Given the description of an element on the screen output the (x, y) to click on. 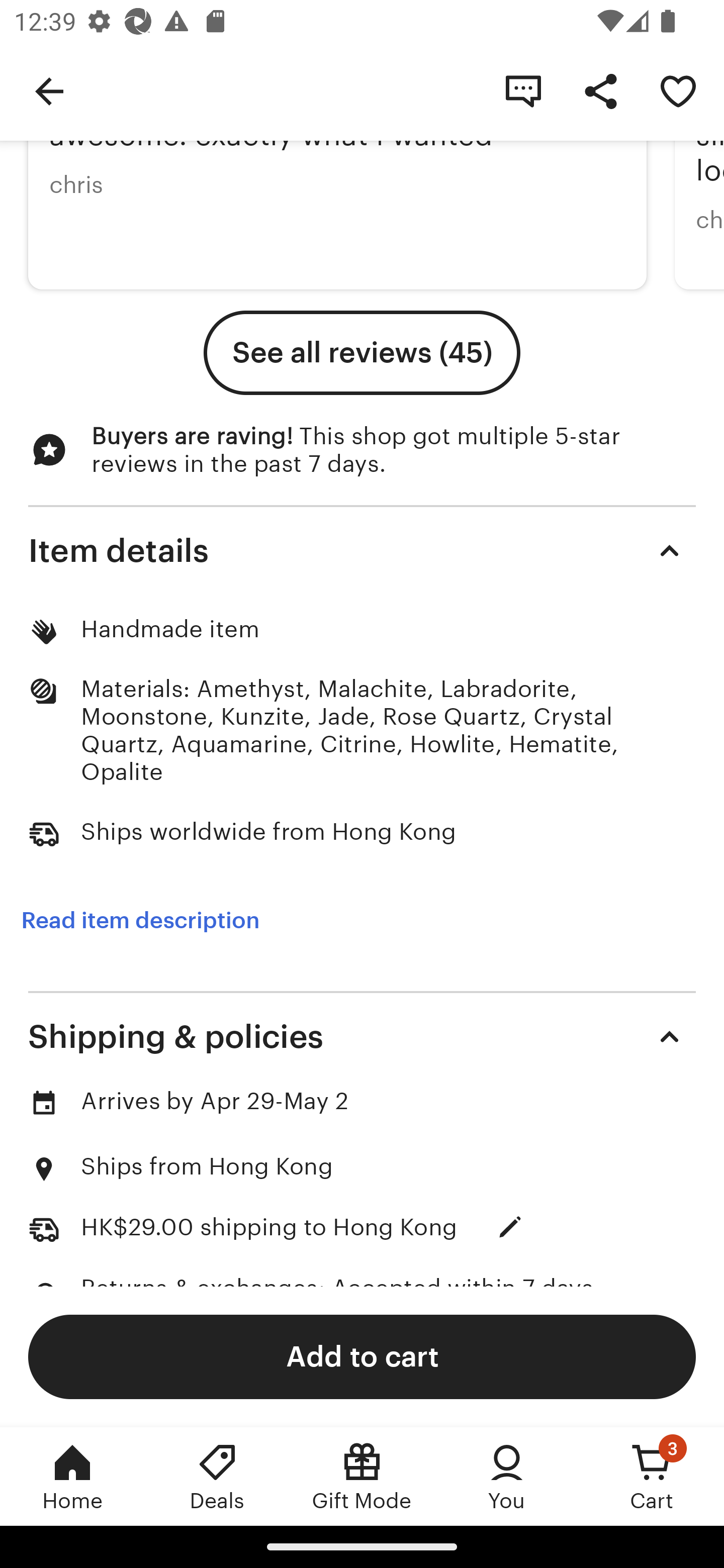
Navigate up (49, 90)
Contact shop (523, 90)
Share (600, 90)
See all reviews (45) (361, 352)
Item details (362, 549)
Read item description (140, 920)
Shipping & policies (362, 1035)
Update (510, 1227)
Add to cart (361, 1355)
Deals (216, 1475)
Gift Mode (361, 1475)
You (506, 1475)
Cart, 3 new notifications Cart (651, 1475)
